Given the description of an element on the screen output the (x, y) to click on. 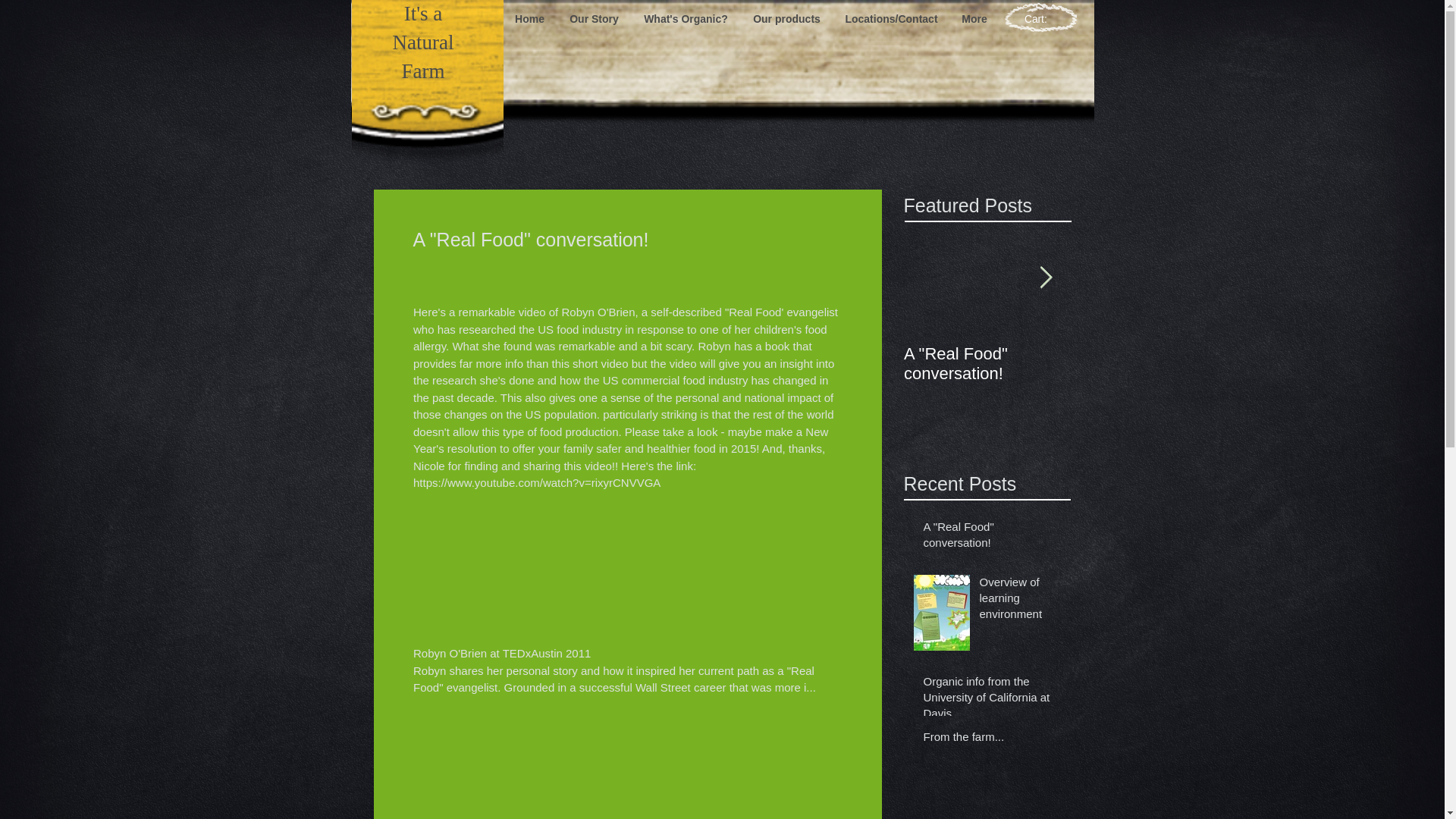
What's Organic? (684, 18)
Home (529, 18)
Overview of learning environment (1020, 601)
From the farm... (992, 739)
A "Real Food" conversation! (987, 363)
Our products (785, 18)
Organic info from the University of California at Davis (992, 700)
Cart: (1042, 19)
Overview of learning environment (1153, 363)
A "Real Food" conversation! (992, 537)
